Given the description of an element on the screen output the (x, y) to click on. 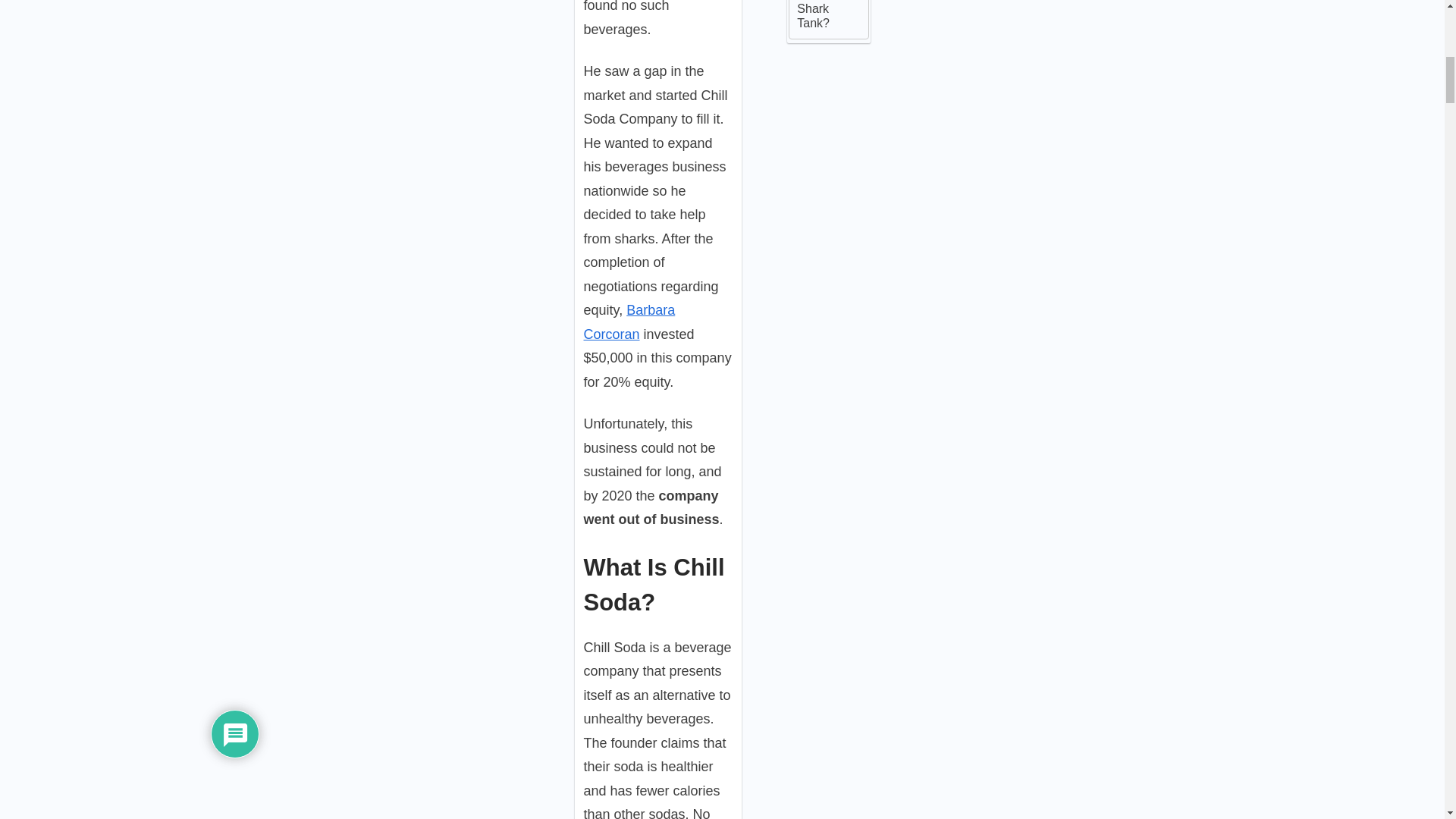
Barbara Corcoran (629, 322)
